Given the description of an element on the screen output the (x, y) to click on. 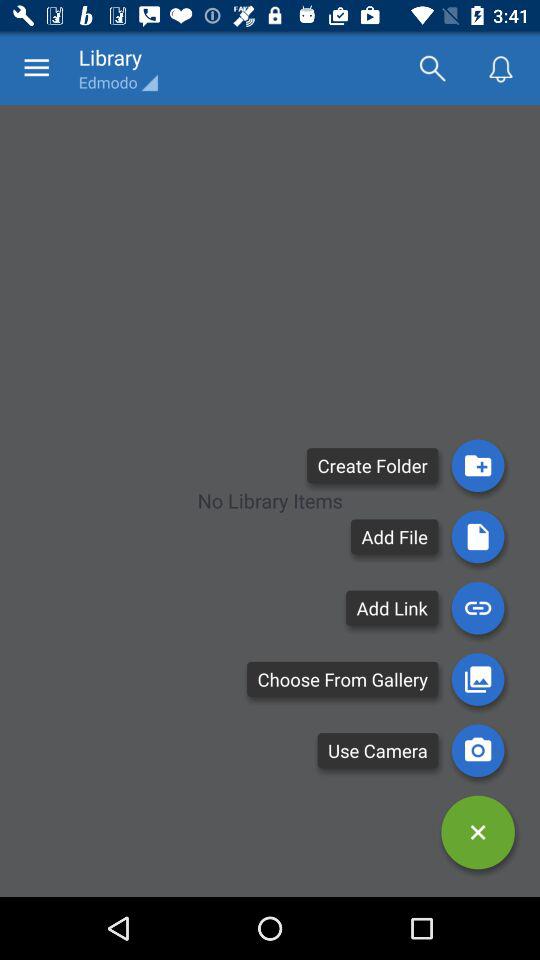
add link (478, 607)
